Given the description of an element on the screen output the (x, y) to click on. 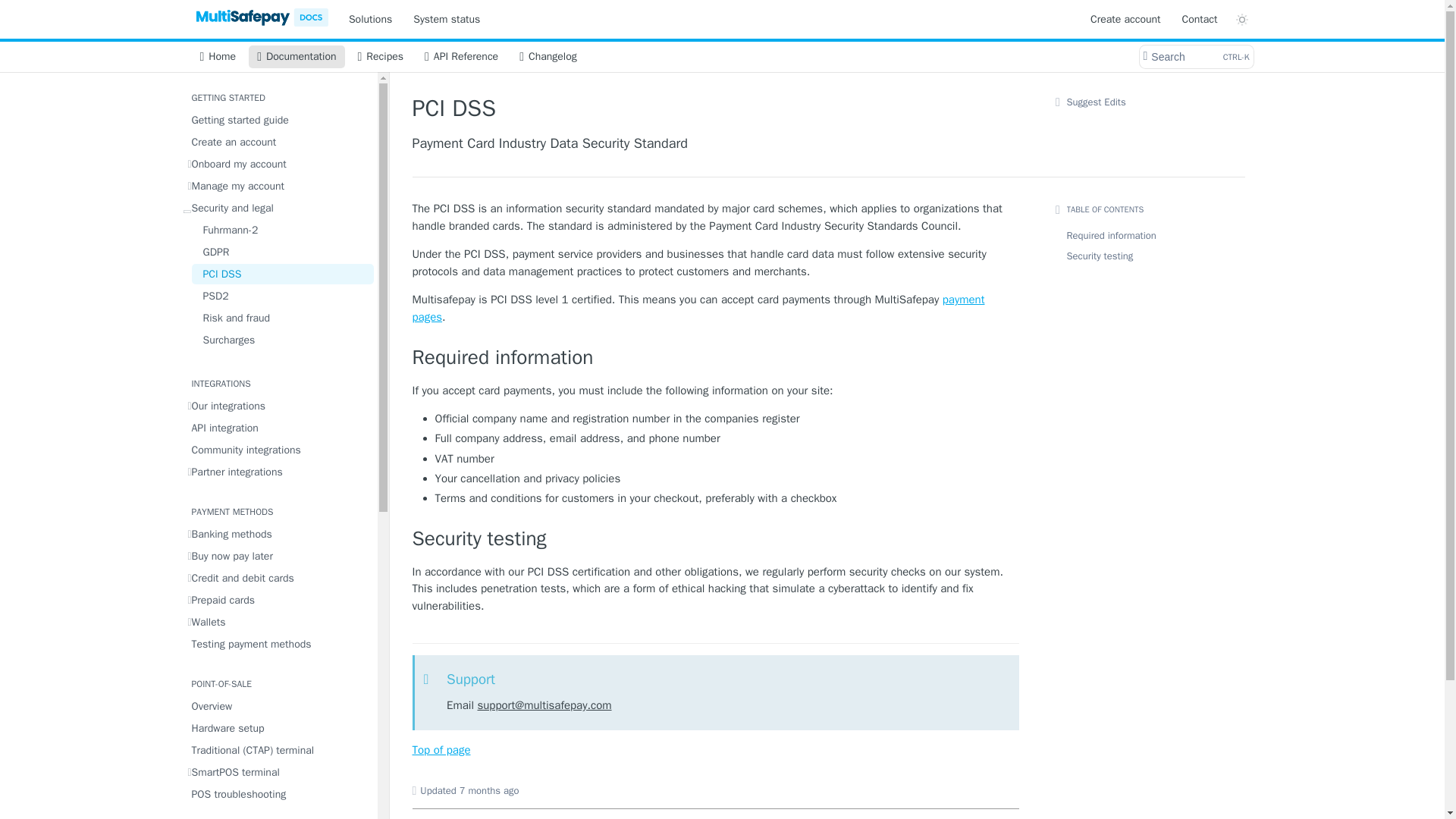
Getting started guide (277, 119)
Changelog (548, 56)
Home (217, 56)
Create account (1125, 18)
Solutions (370, 18)
Manage my account (277, 186)
Recipes (380, 56)
Create an account (277, 141)
System status (445, 18)
API Reference (1195, 56)
Required information (461, 56)
Documentation (715, 358)
Security testing (295, 56)
Onboard my account (715, 539)
